Given the description of an element on the screen output the (x, y) to click on. 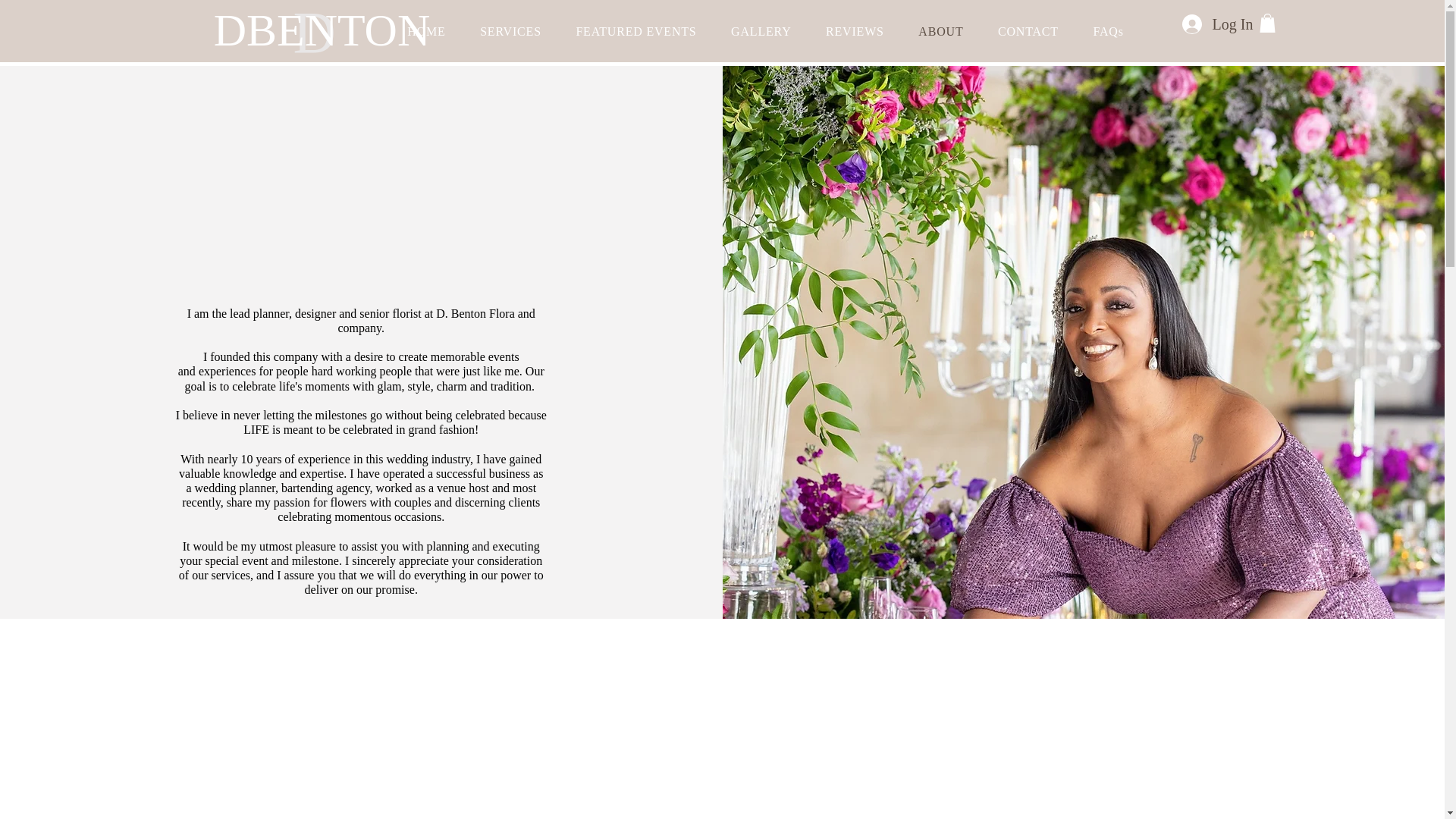
FEATURED EVENTS (636, 31)
REVIEWS (854, 31)
Log In (1214, 23)
ABOUT (941, 31)
SERVICES (509, 31)
GALLERY (760, 31)
CONTACT (1027, 31)
FAQs (1108, 31)
HOME (426, 31)
